Given the description of an element on the screen output the (x, y) to click on. 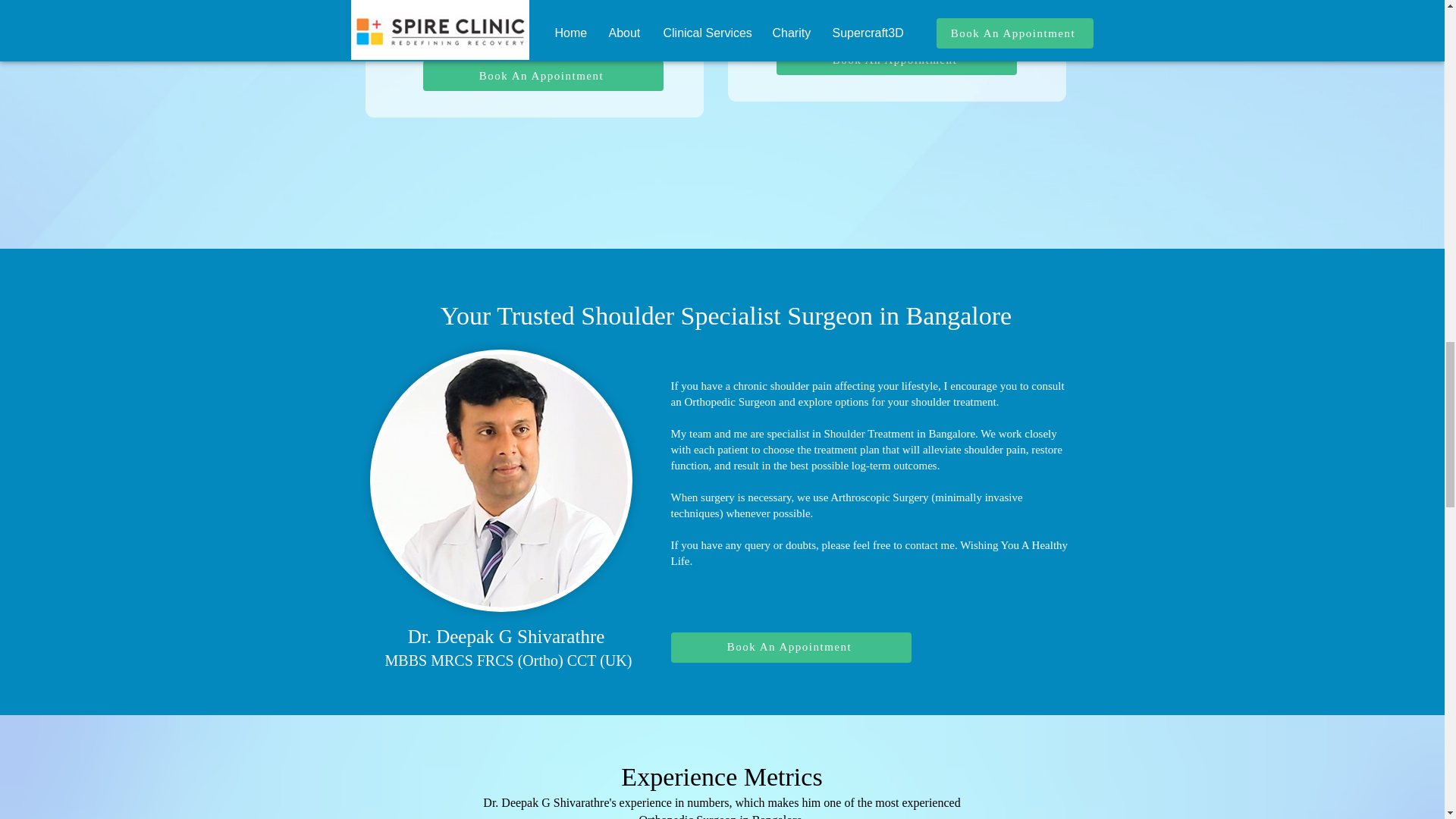
Book An Appointment (543, 75)
Book An Appointment (896, 60)
Book An Appointment (790, 647)
